Given the description of an element on the screen output the (x, y) to click on. 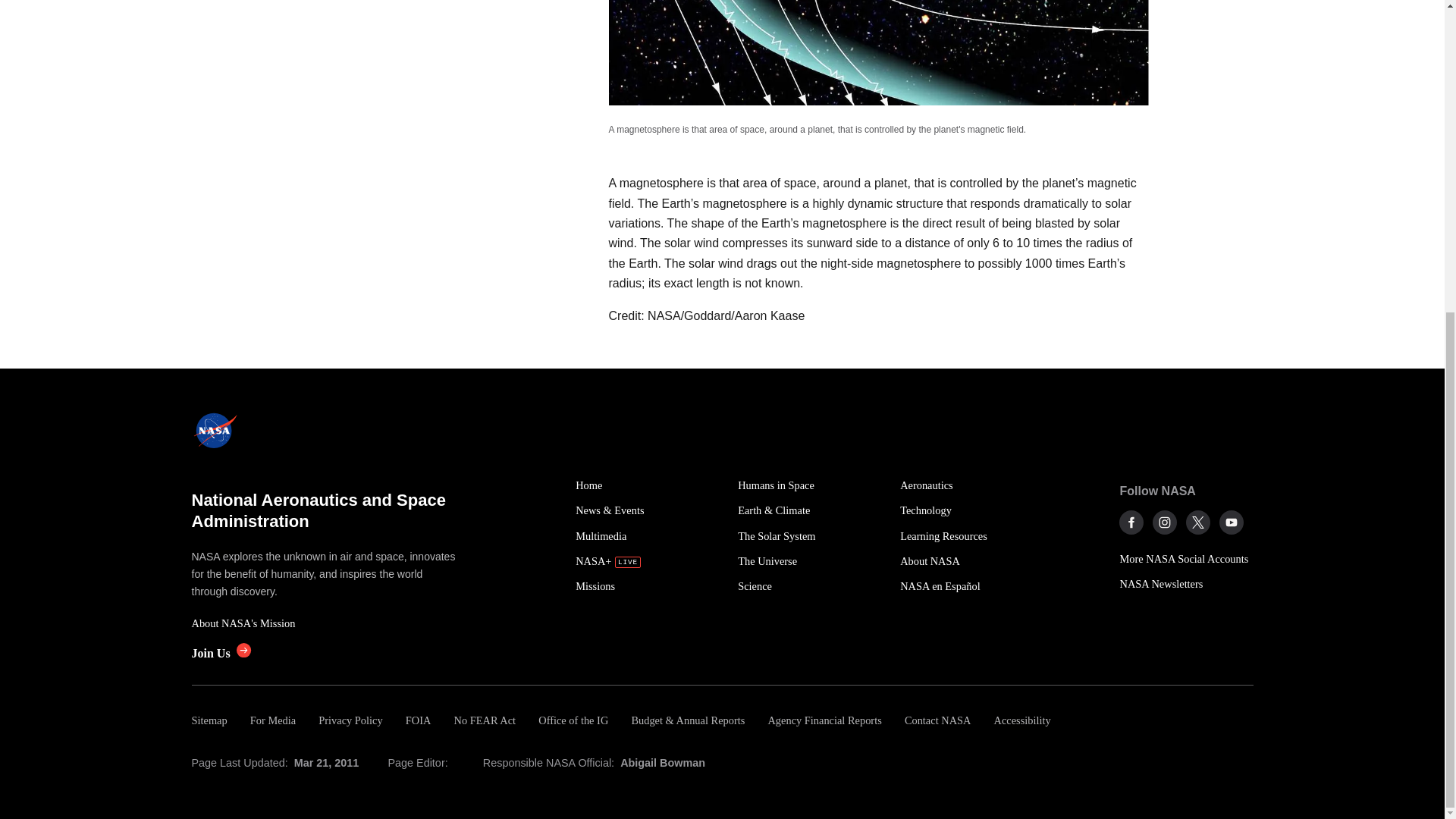
NASA on YouTube (1231, 522)
The Solar System (810, 536)
NASA on Facebook (1130, 522)
Home (647, 485)
Multimedia (647, 536)
Technology (972, 510)
Aeronautics (972, 485)
Science (810, 586)
NASA on X (1197, 522)
Humans in Space (810, 485)
Missions (647, 586)
Learning Resources (972, 536)
About NASA's Mission (324, 623)
The Universe (810, 561)
Join Us (220, 653)
